Given the description of an element on the screen output the (x, y) to click on. 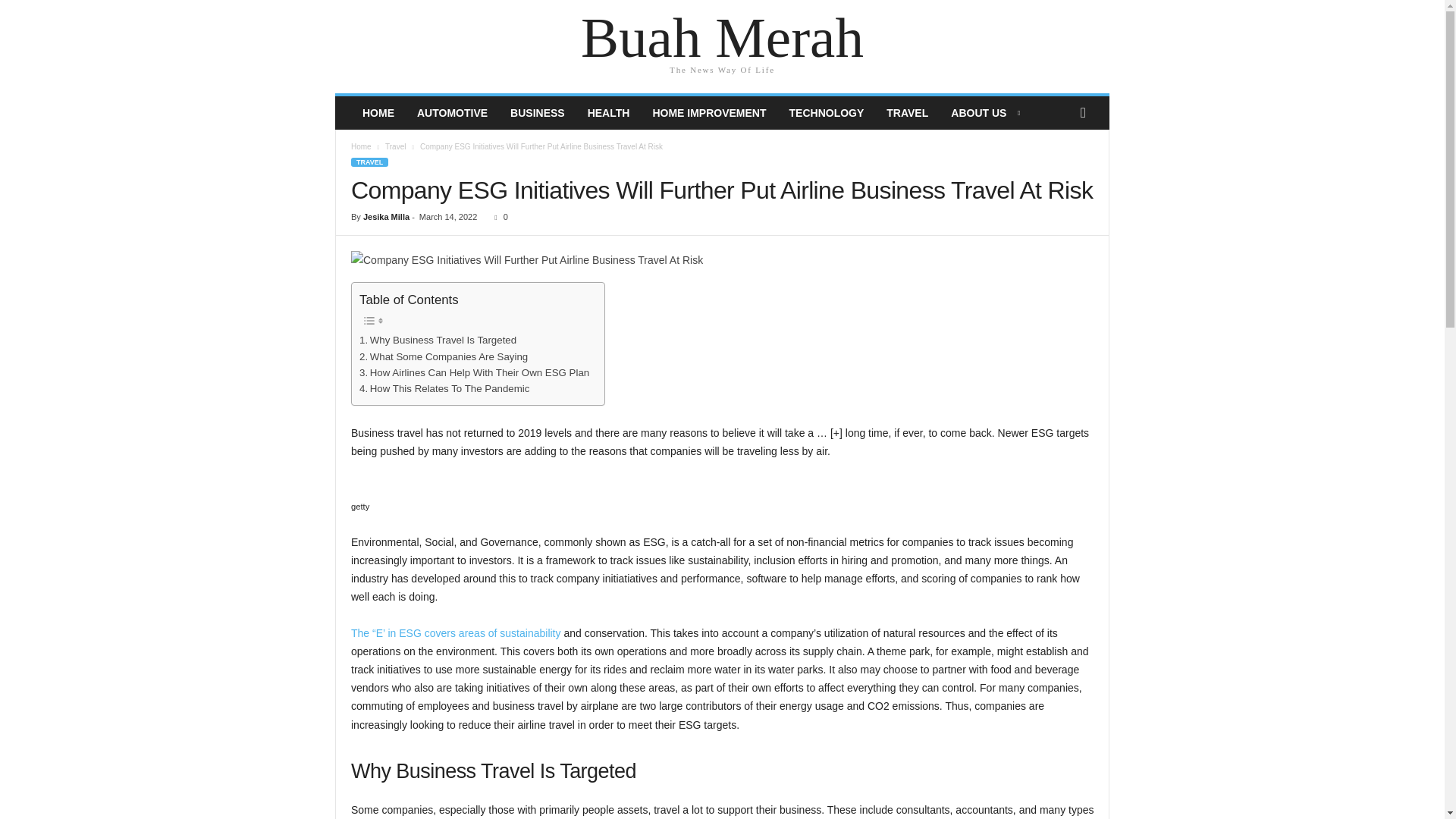
AUTOMOTIVE (452, 112)
HOME (378, 112)
What Some Companies Are Saying (443, 356)
TECHNOLOGY (826, 112)
TRAVEL (369, 162)
How This Relates To The Pandemic (444, 388)
Jesika Milla (385, 216)
How This Relates To The Pandemic (444, 388)
HEALTH (609, 112)
Home (360, 146)
View all posts in Travel (395, 146)
What Some Companies Are Saying (443, 356)
Why Business Travel Is Targeted (437, 340)
0 (496, 216)
HOME IMPROVEMENT (708, 112)
